Given the description of an element on the screen output the (x, y) to click on. 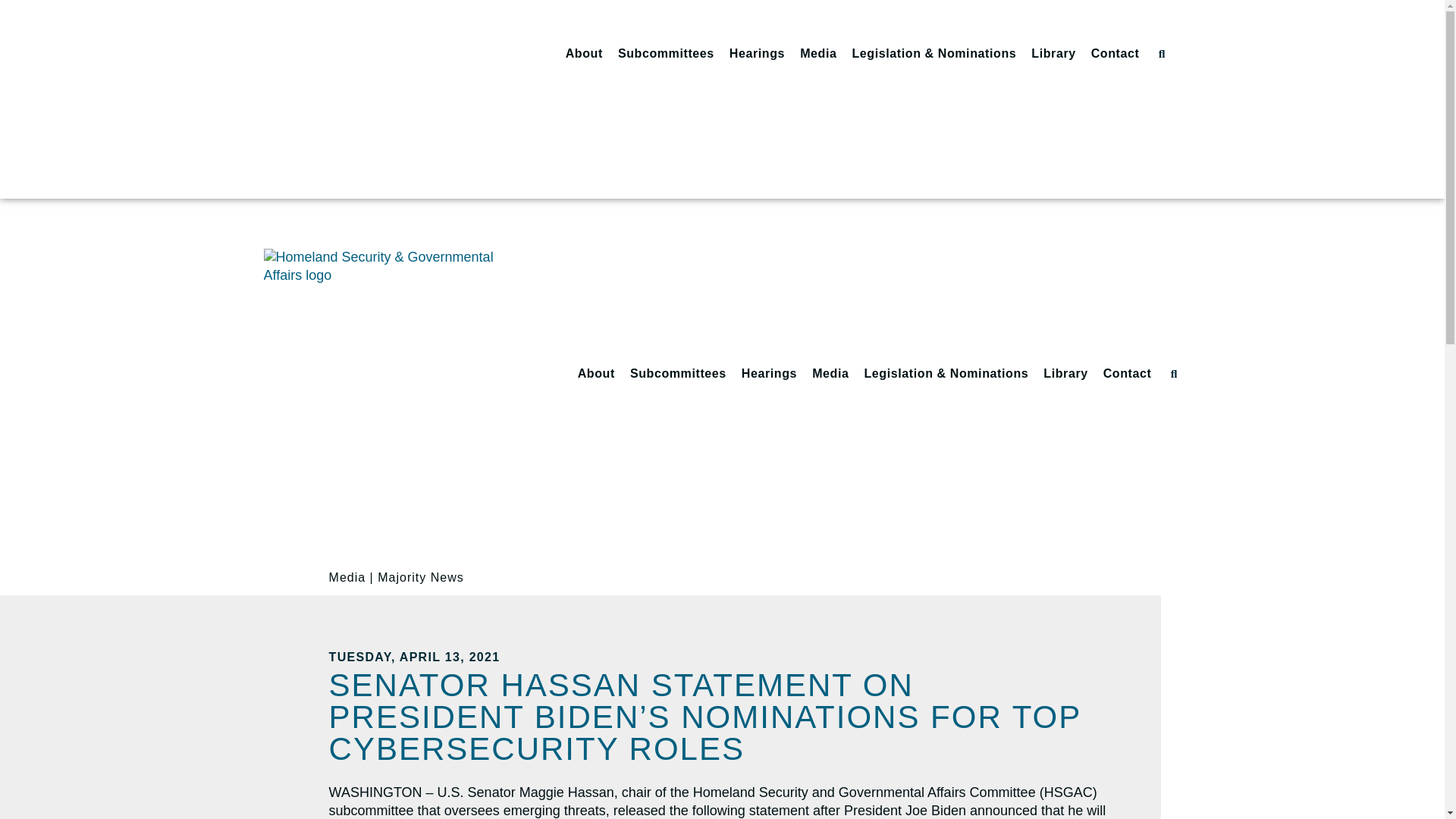
Contact (1115, 53)
Hearings (756, 53)
Subcommittees (665, 53)
Media (817, 53)
About (584, 53)
Library (1052, 53)
